Given the description of an element on the screen output the (x, y) to click on. 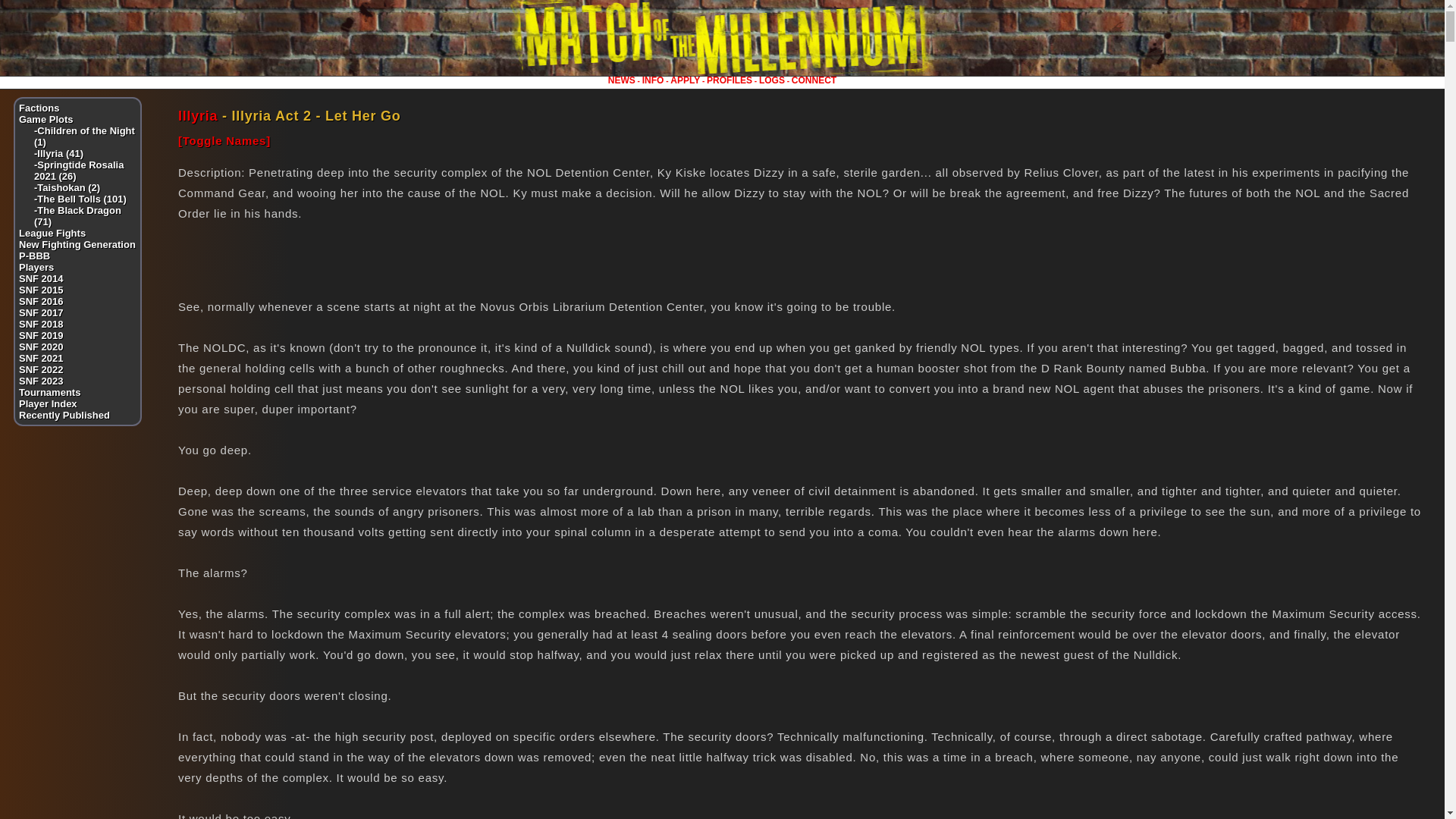
LOGS (771, 80)
CONNECT (813, 80)
PROFILES (729, 80)
NEWS (621, 80)
INFO (652, 80)
APPLY (684, 80)
